Given the description of an element on the screen output the (x, y) to click on. 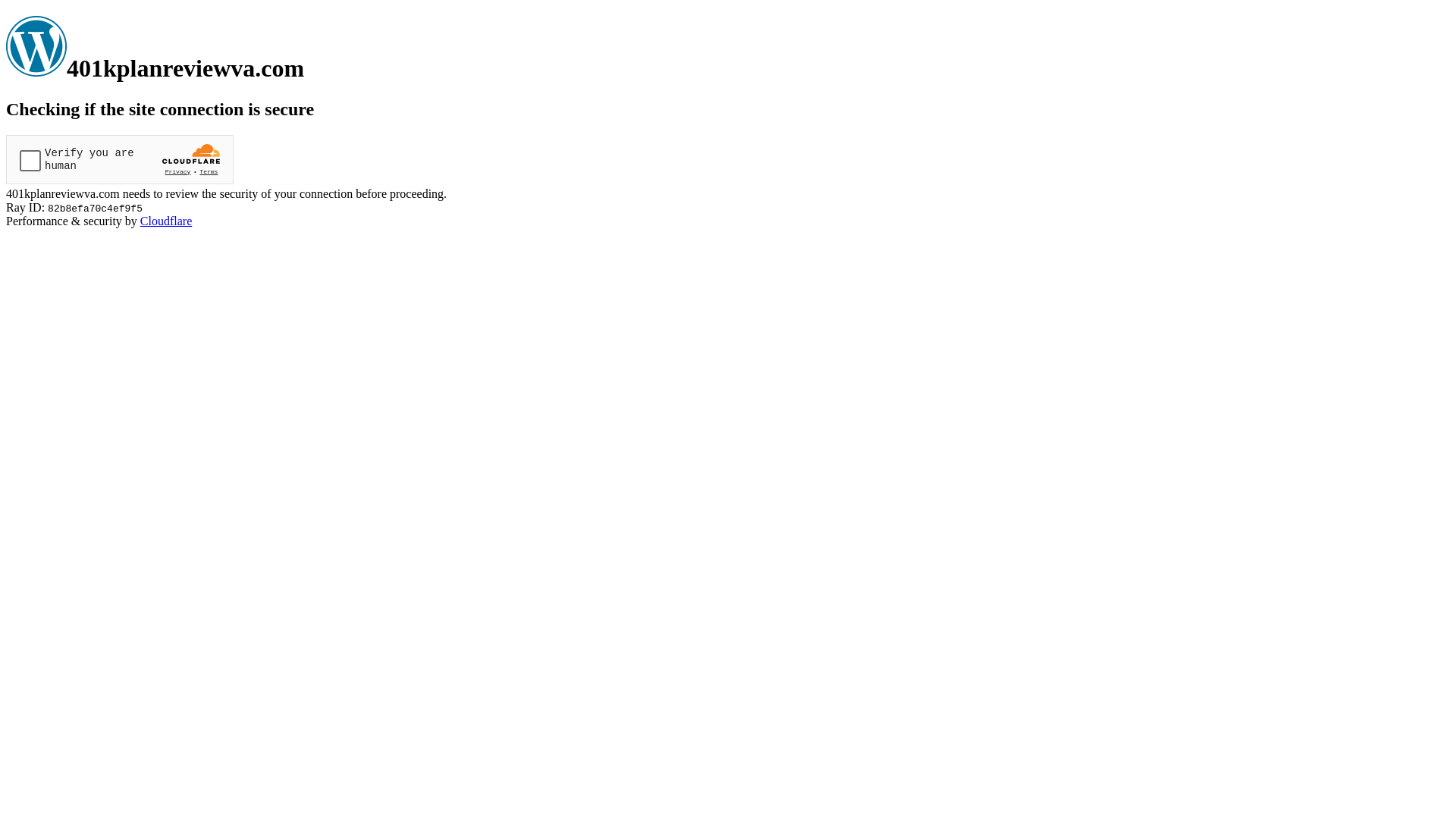
Cloudflare Element type: text (165, 220)
Widget containing a Cloudflare security challenge Element type: hover (119, 159)
